Given the description of an element on the screen output the (x, y) to click on. 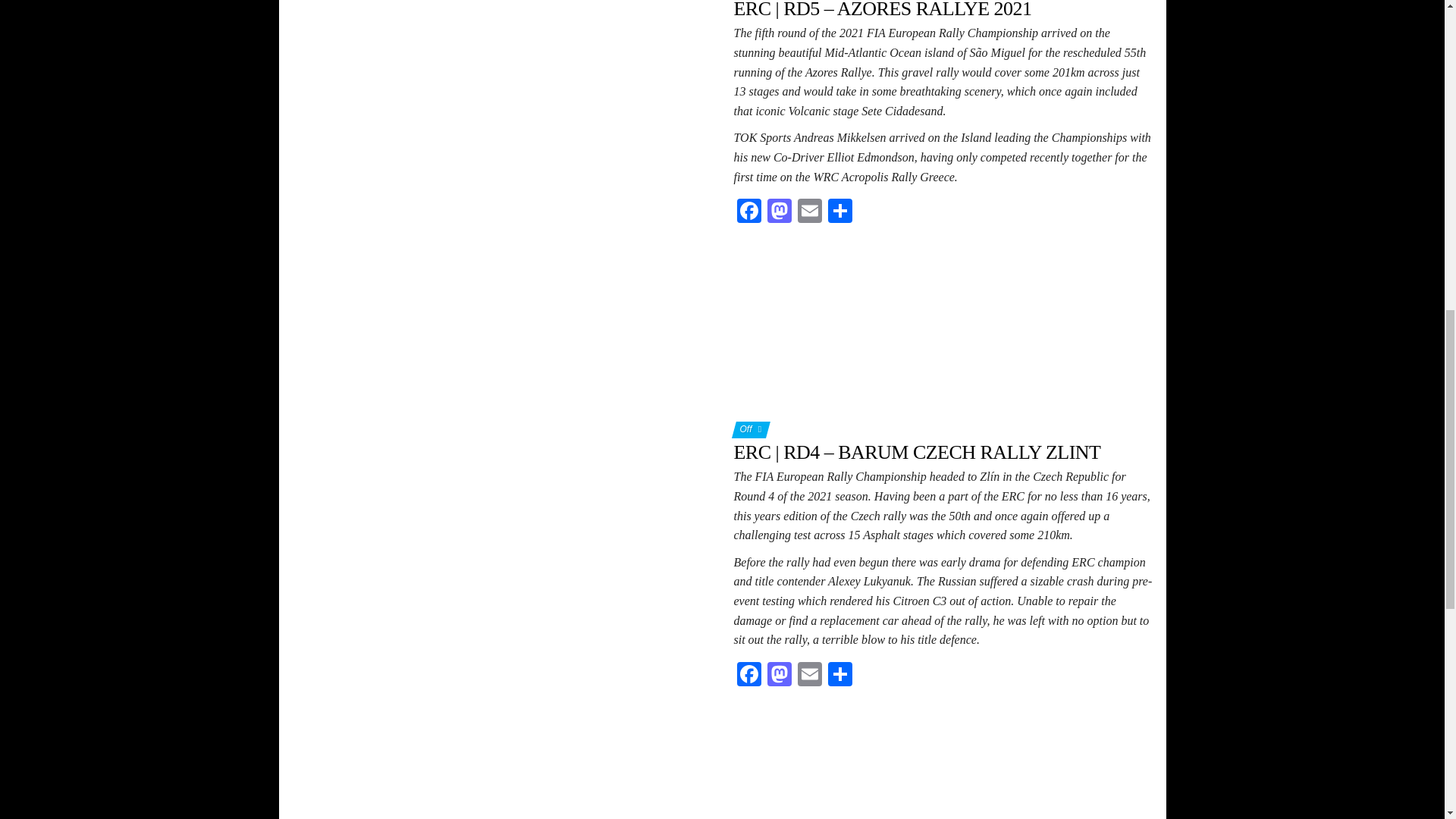
Mastodon (779, 212)
Facebook (748, 212)
Facebook (748, 675)
Share (840, 212)
Email (809, 212)
